Given the description of an element on the screen output the (x, y) to click on. 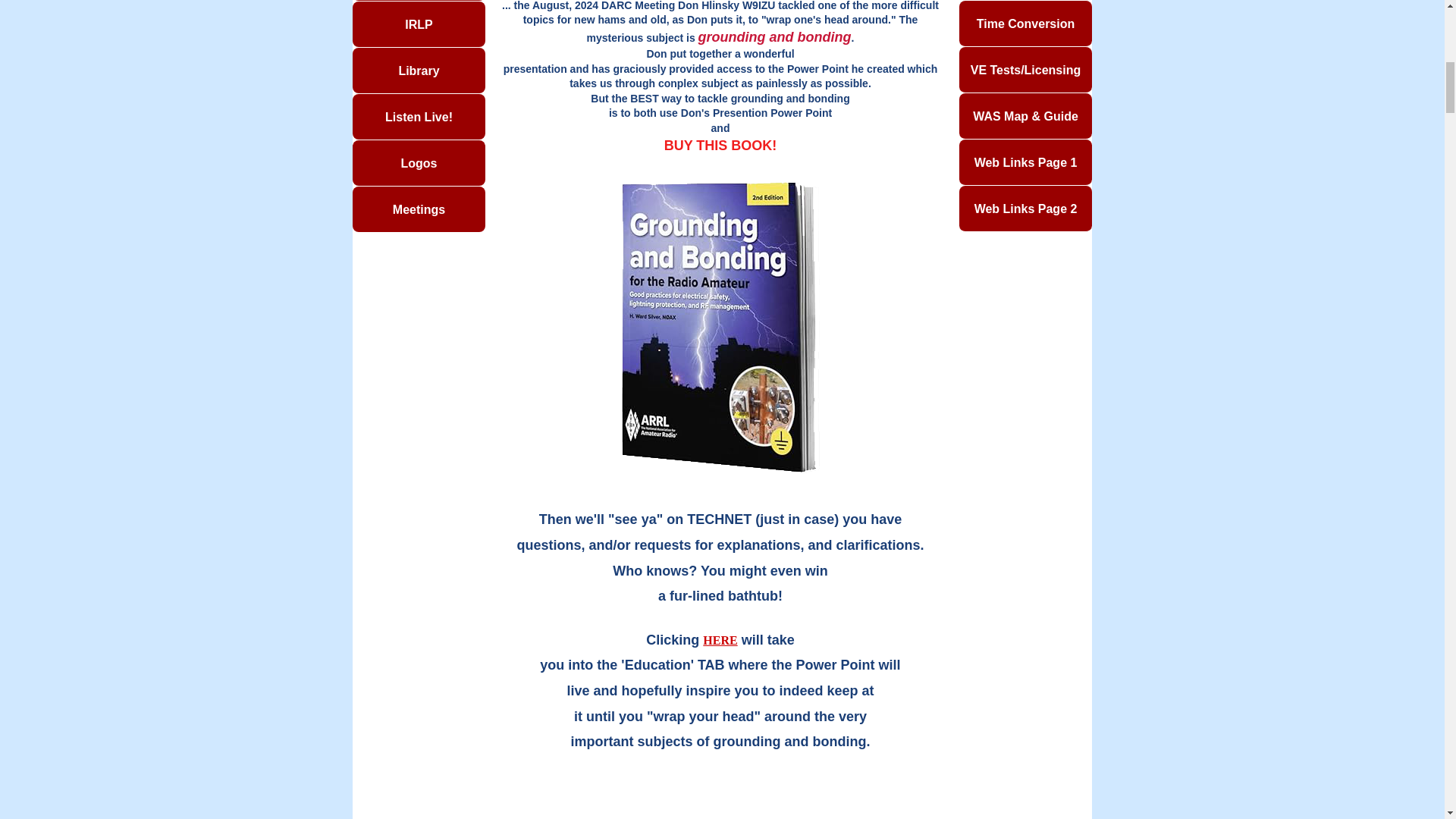
Logos (418, 162)
Meetings (418, 208)
IRLP (418, 23)
Library (418, 70)
HERE (719, 640)
Listen Live! (418, 116)
